Given the description of an element on the screen output the (x, y) to click on. 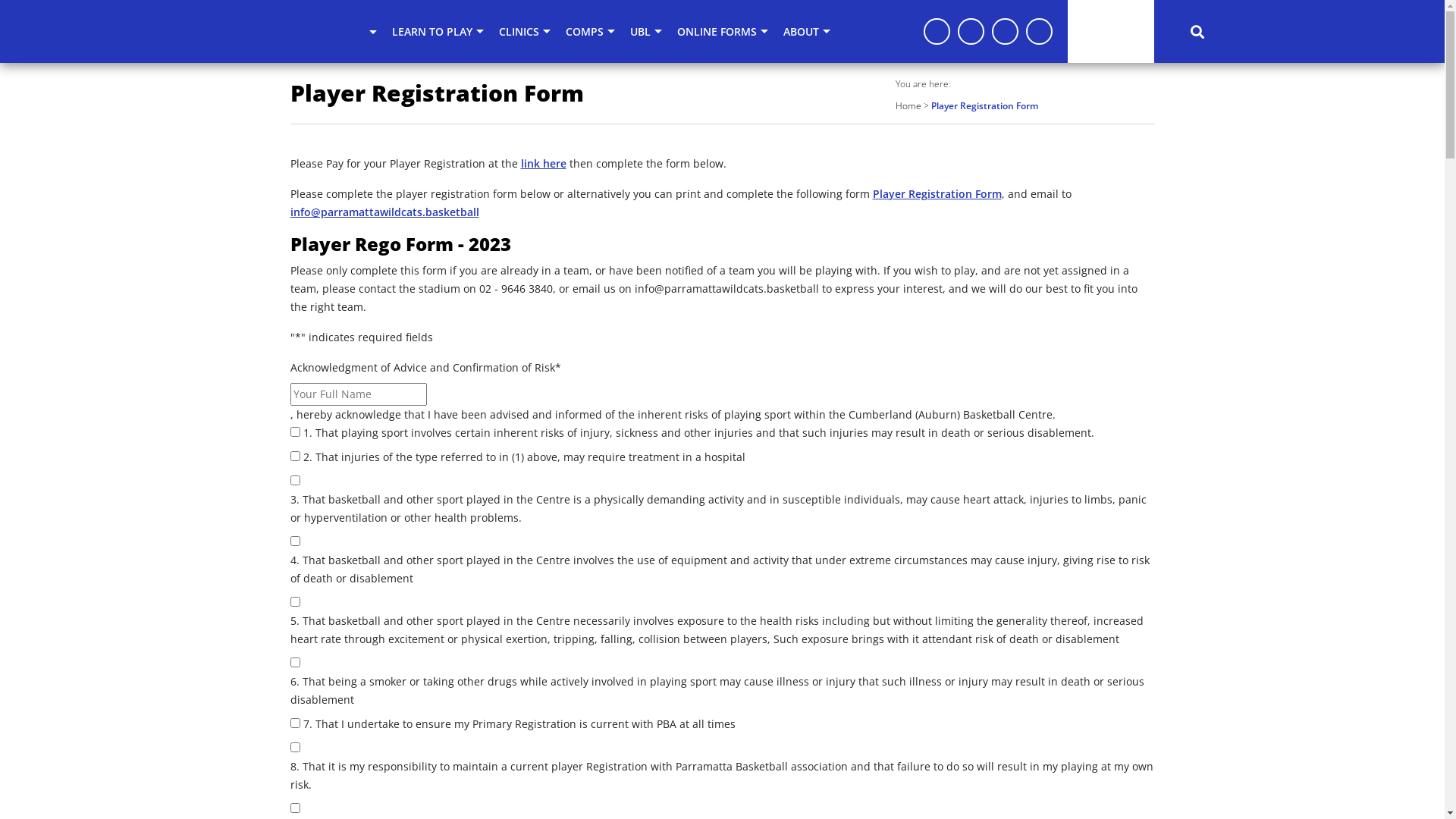
ABOUT Element type: text (806, 31)
Search Element type: hover (1197, 30)
COMPS Element type: text (590, 31)
link here Element type: text (542, 163)
CLINICS Element type: text (524, 31)
ONLINE FORMS Element type: text (722, 31)
Player Registration Form Element type: text (936, 193)
Home Element type: text (907, 105)
info@parramattawildcats.basketball Element type: text (383, 211)
UBL Element type: text (645, 31)
LEARN TO PLAY Element type: text (437, 31)
